Given the description of an element on the screen output the (x, y) to click on. 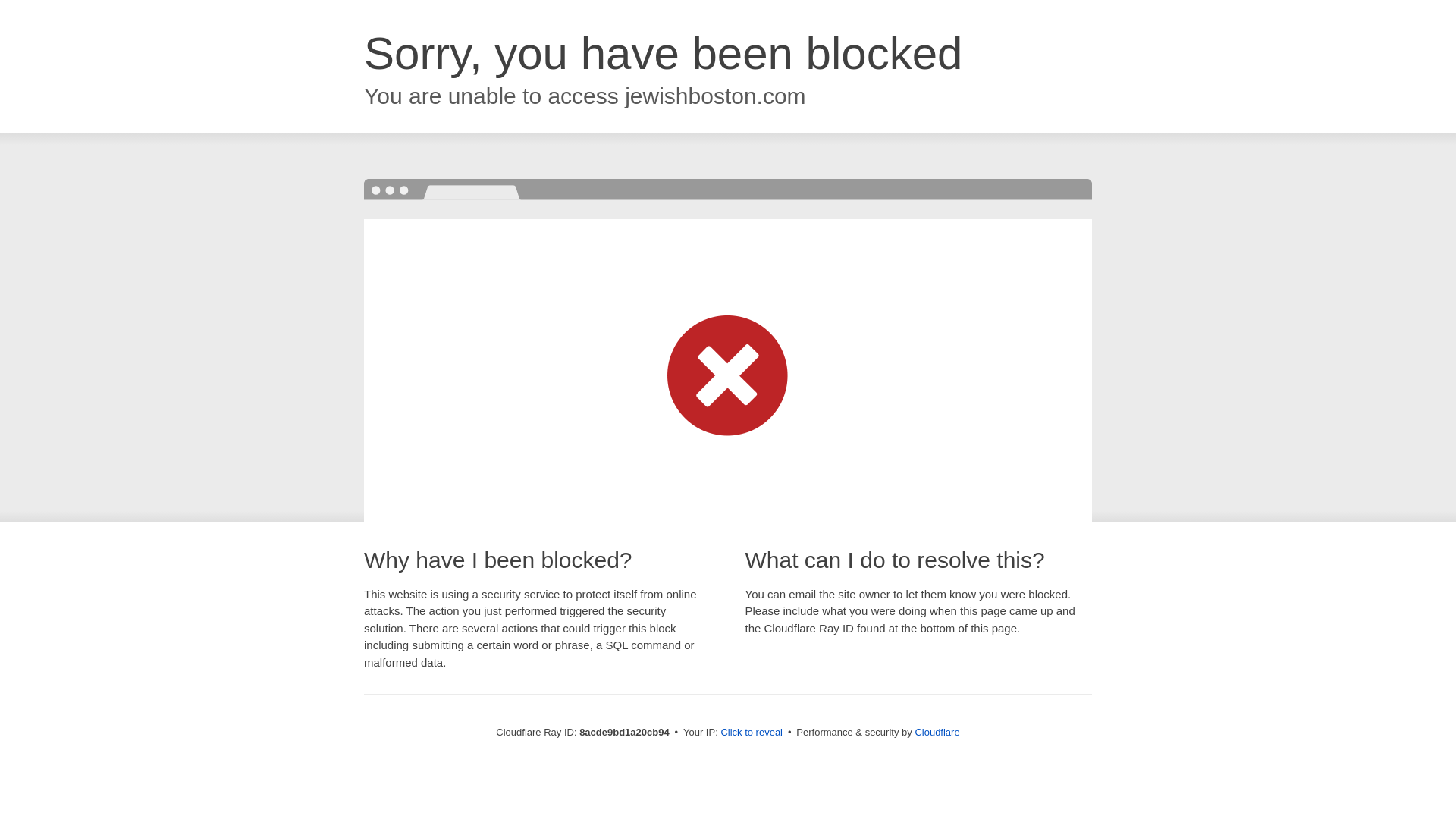
Click to reveal (751, 732)
Cloudflare (936, 731)
